Given the description of an element on the screen output the (x, y) to click on. 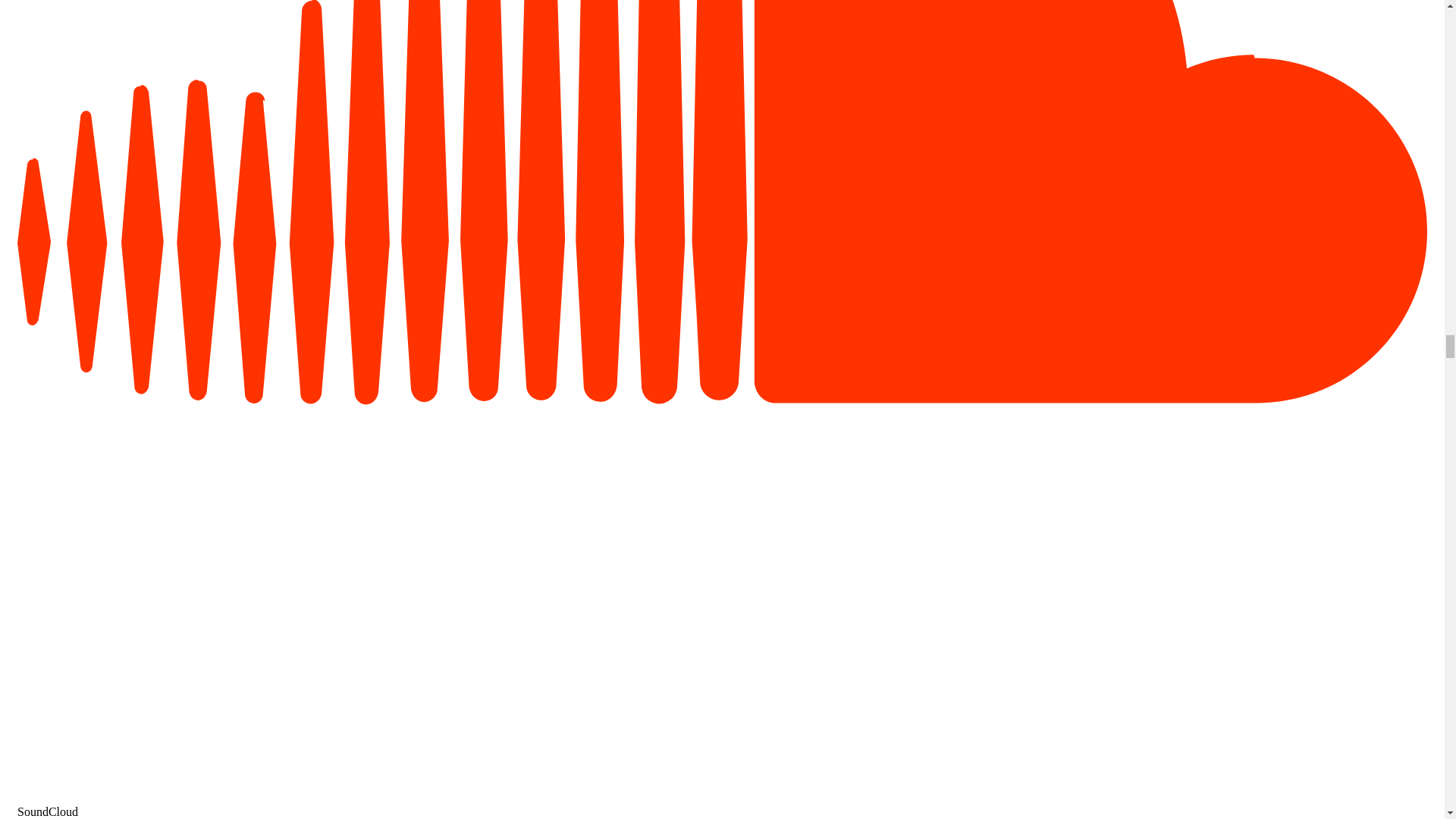
SoundCloud SoundCloud (721, 804)
